Given the description of an element on the screen output the (x, y) to click on. 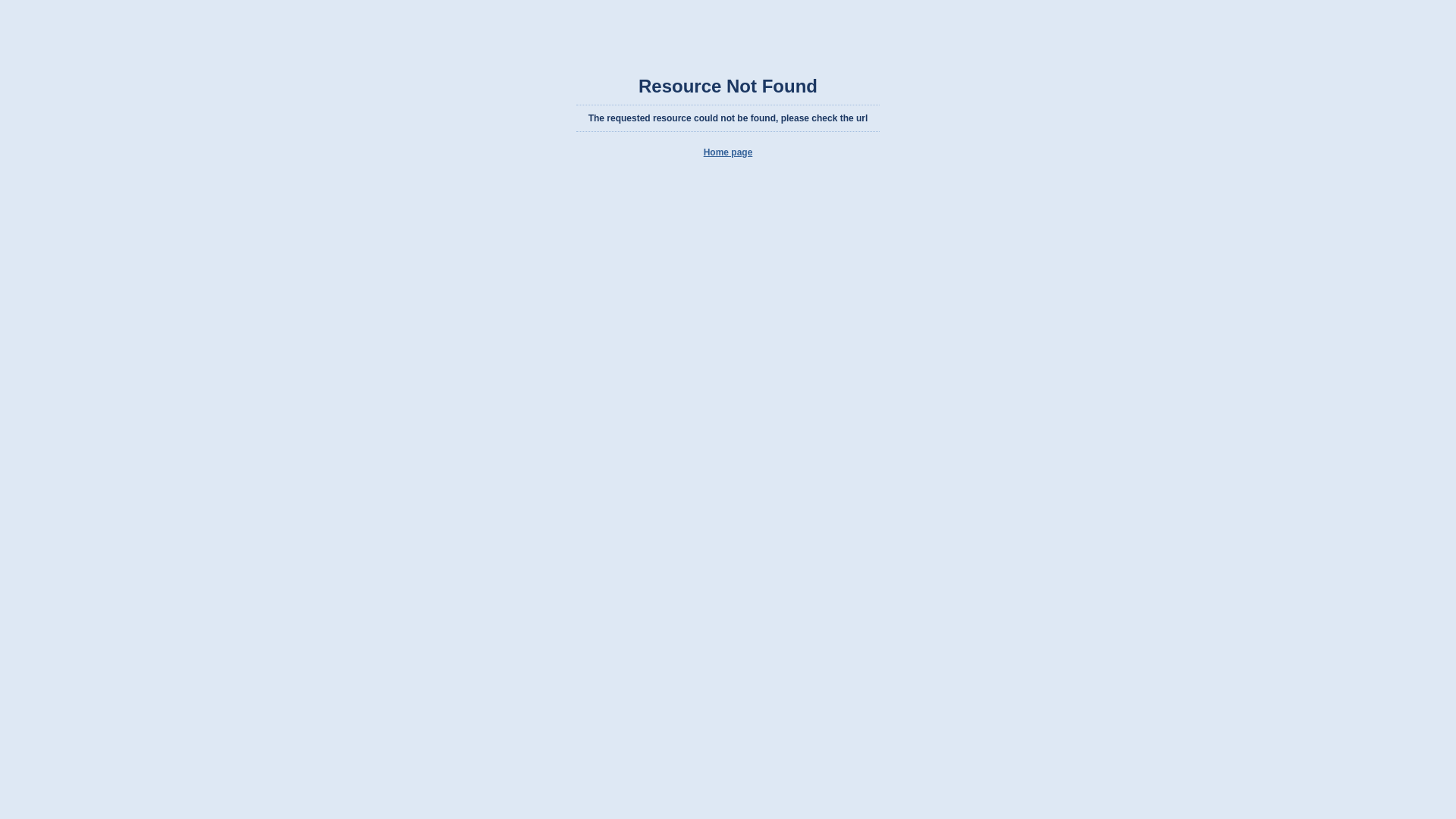
Home page Element type: text (728, 152)
